Given the description of an element on the screen output the (x, y) to click on. 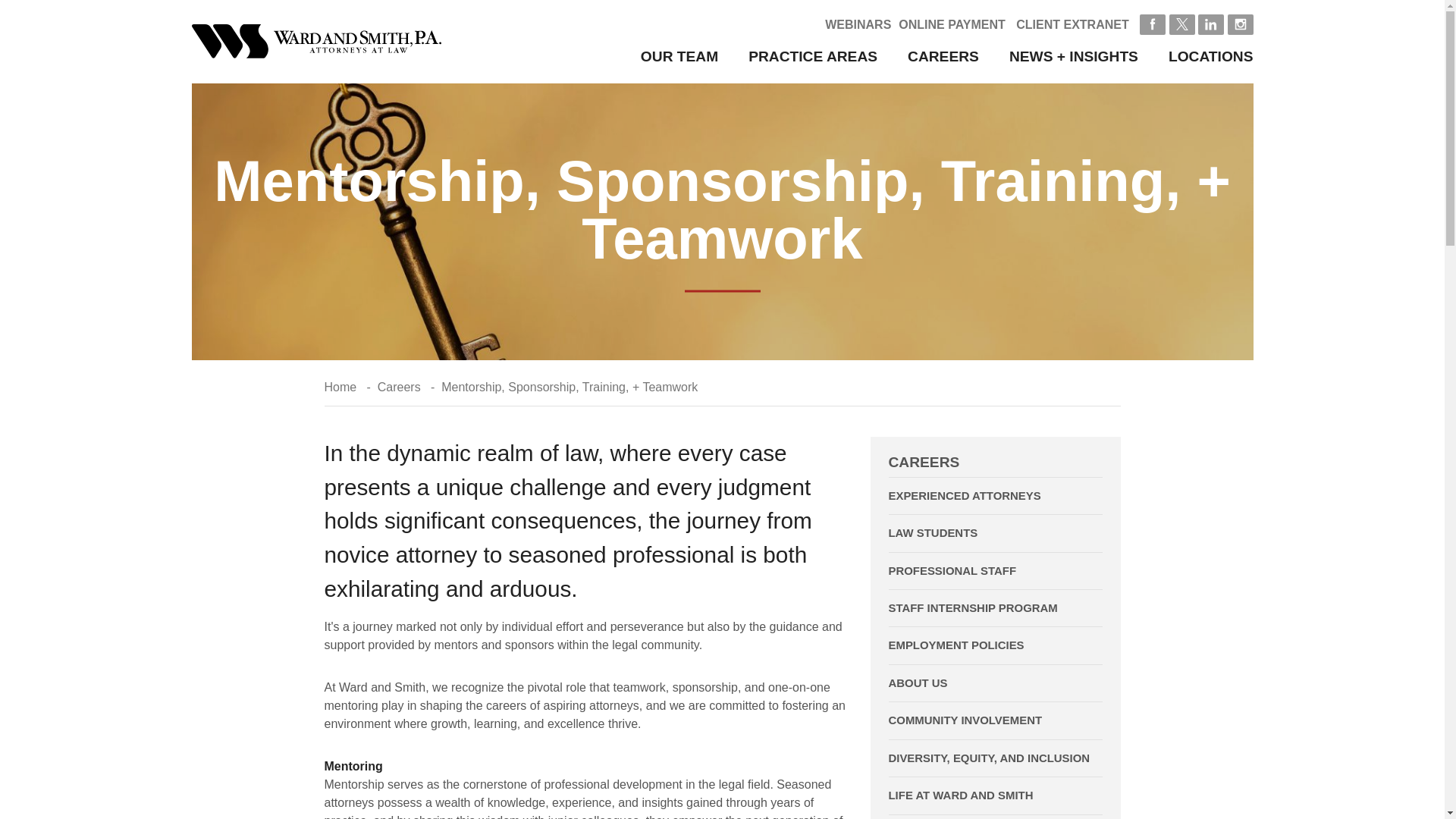
LOCATIONS (1211, 56)
Home (340, 386)
Careers (398, 386)
EMPLOYMENT POLICIES (995, 645)
LIFE AT WARD AND SMITH (995, 795)
WEBINARS (858, 24)
COMMUNITY INVOLVEMENT (995, 720)
CAREERS (942, 56)
ONLINE PAYMENT (951, 24)
DIVERSITY, EQUITY, AND INCLUSION (995, 758)
PRACTICE AREAS (812, 56)
OUR TEAM (678, 56)
CLIENT EXTRANET (1072, 24)
STAFF INTERNSHIP PROGRAM (995, 607)
